Given the description of an element on the screen output the (x, y) to click on. 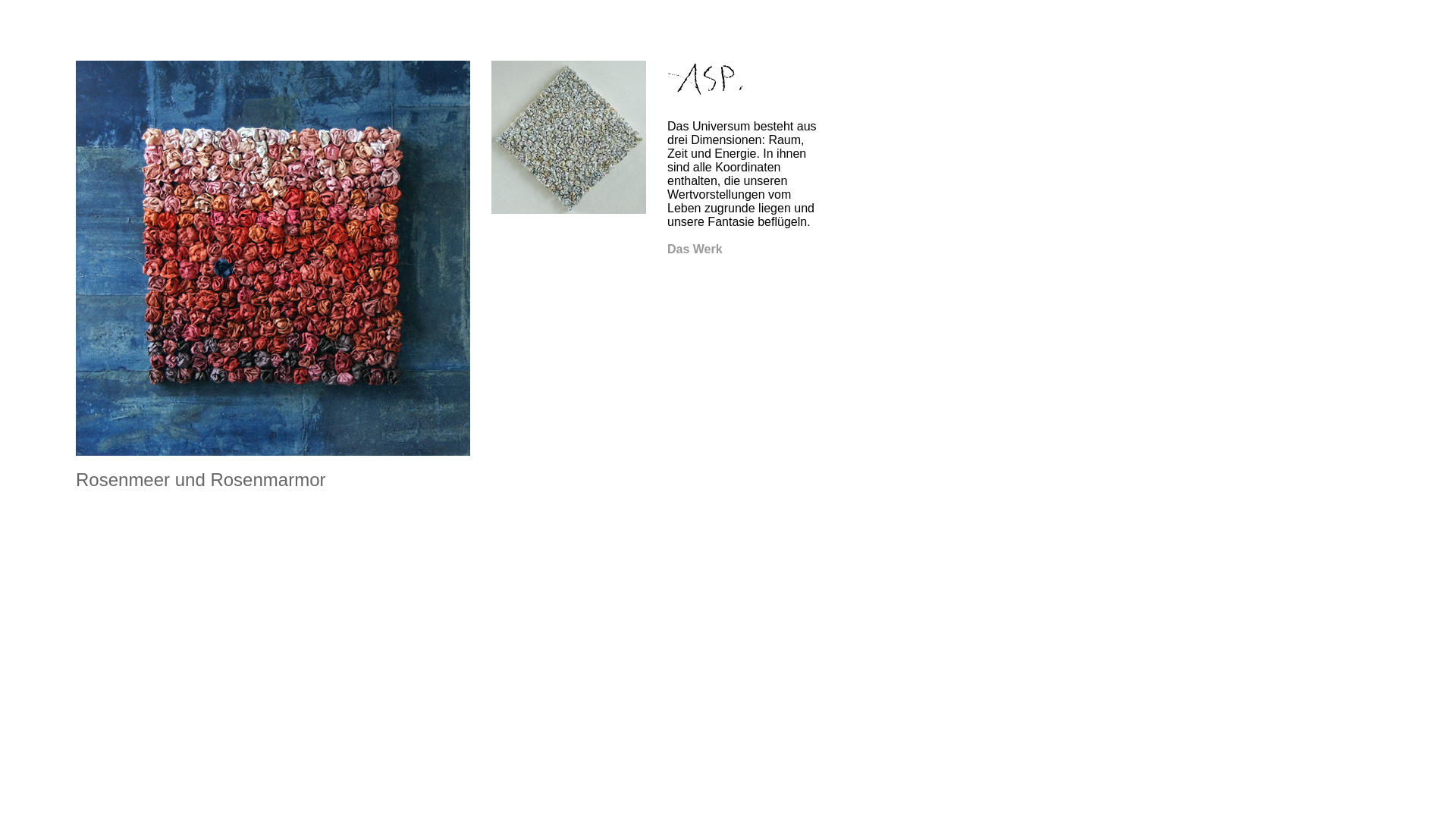
Das Werk Element type: text (694, 248)
